Given the description of an element on the screen output the (x, y) to click on. 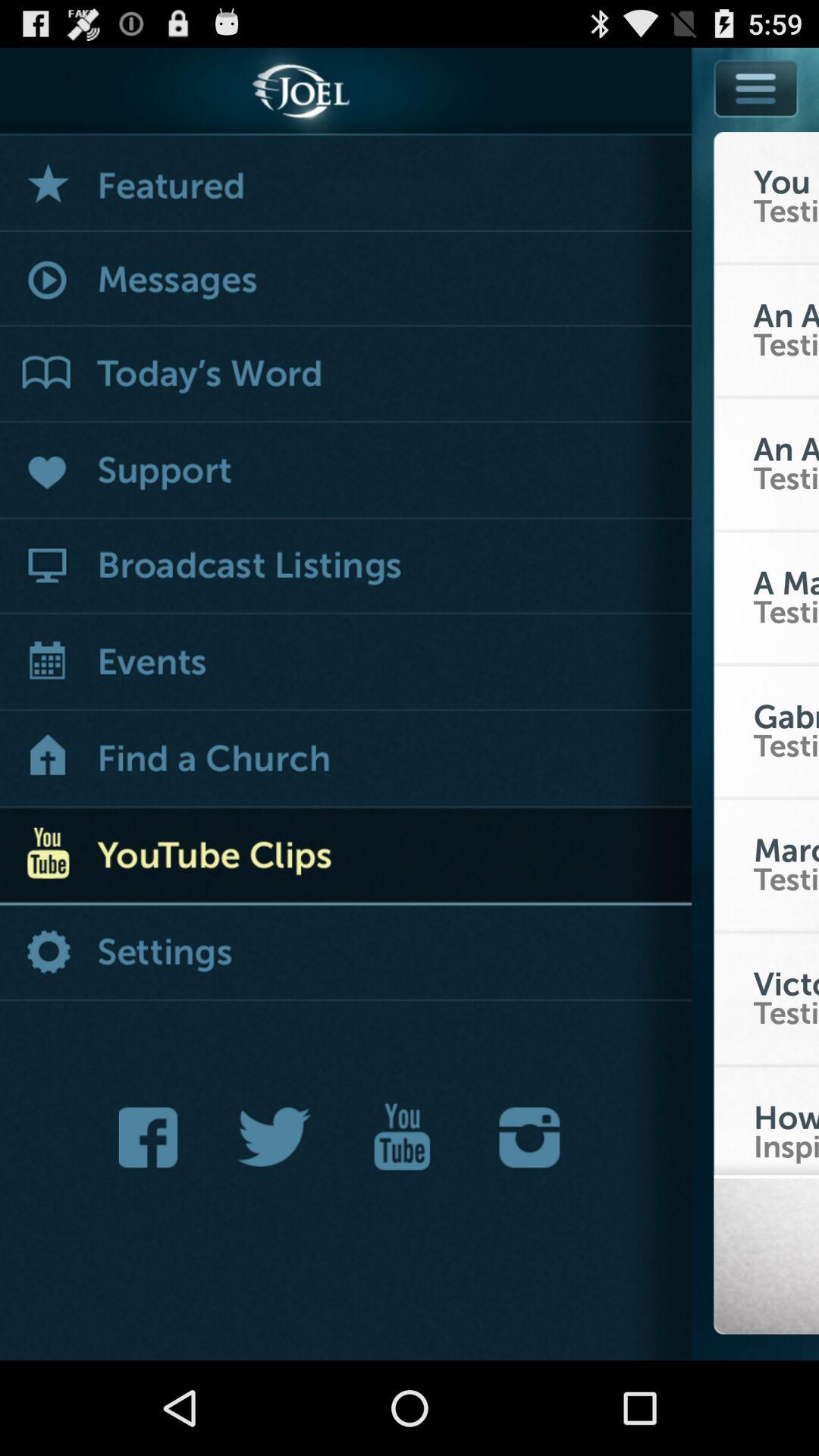
message button (345, 280)
